Given the description of an element on the screen output the (x, y) to click on. 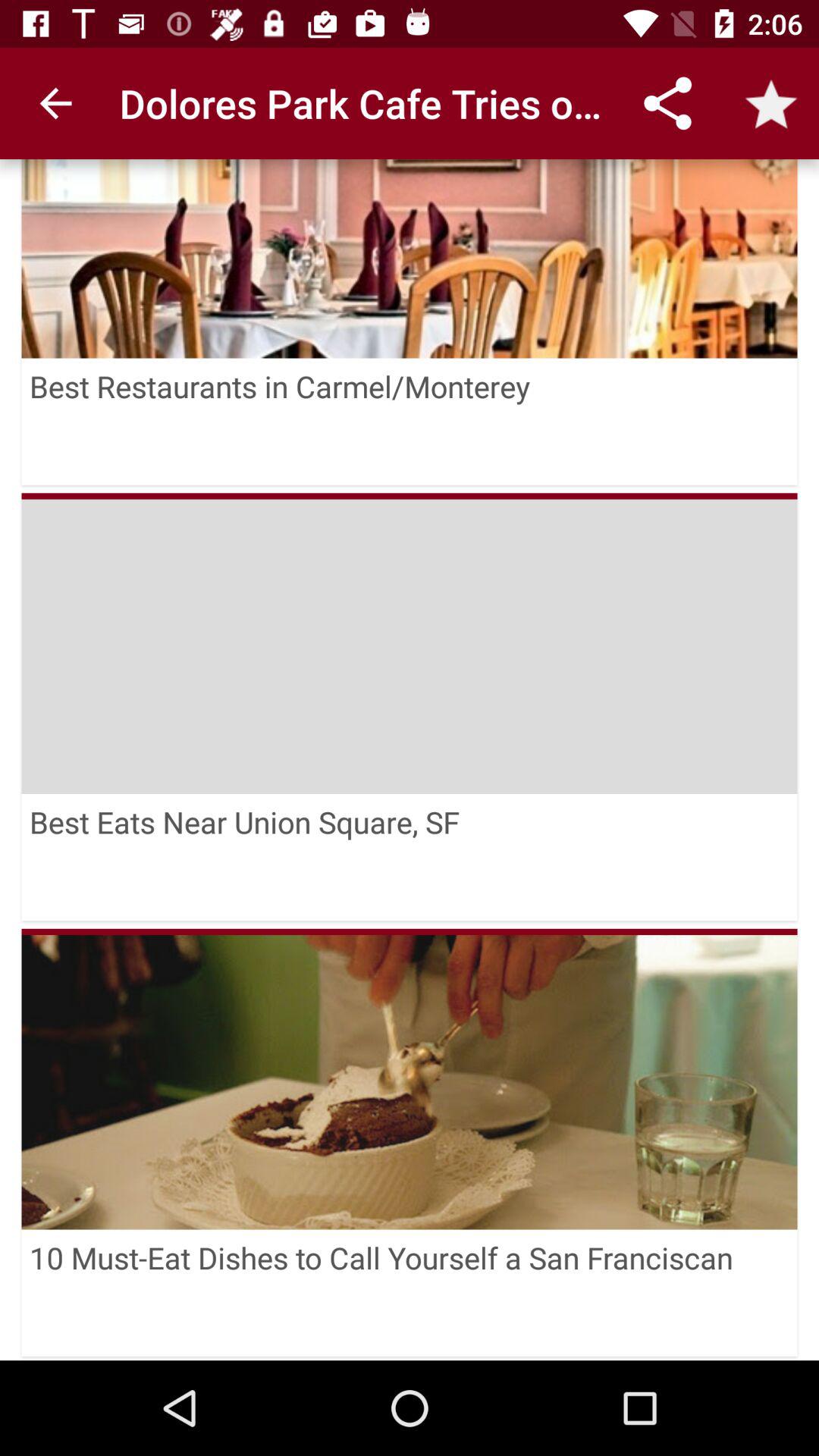
select best eats near icon (409, 856)
